Given the description of an element on the screen output the (x, y) to click on. 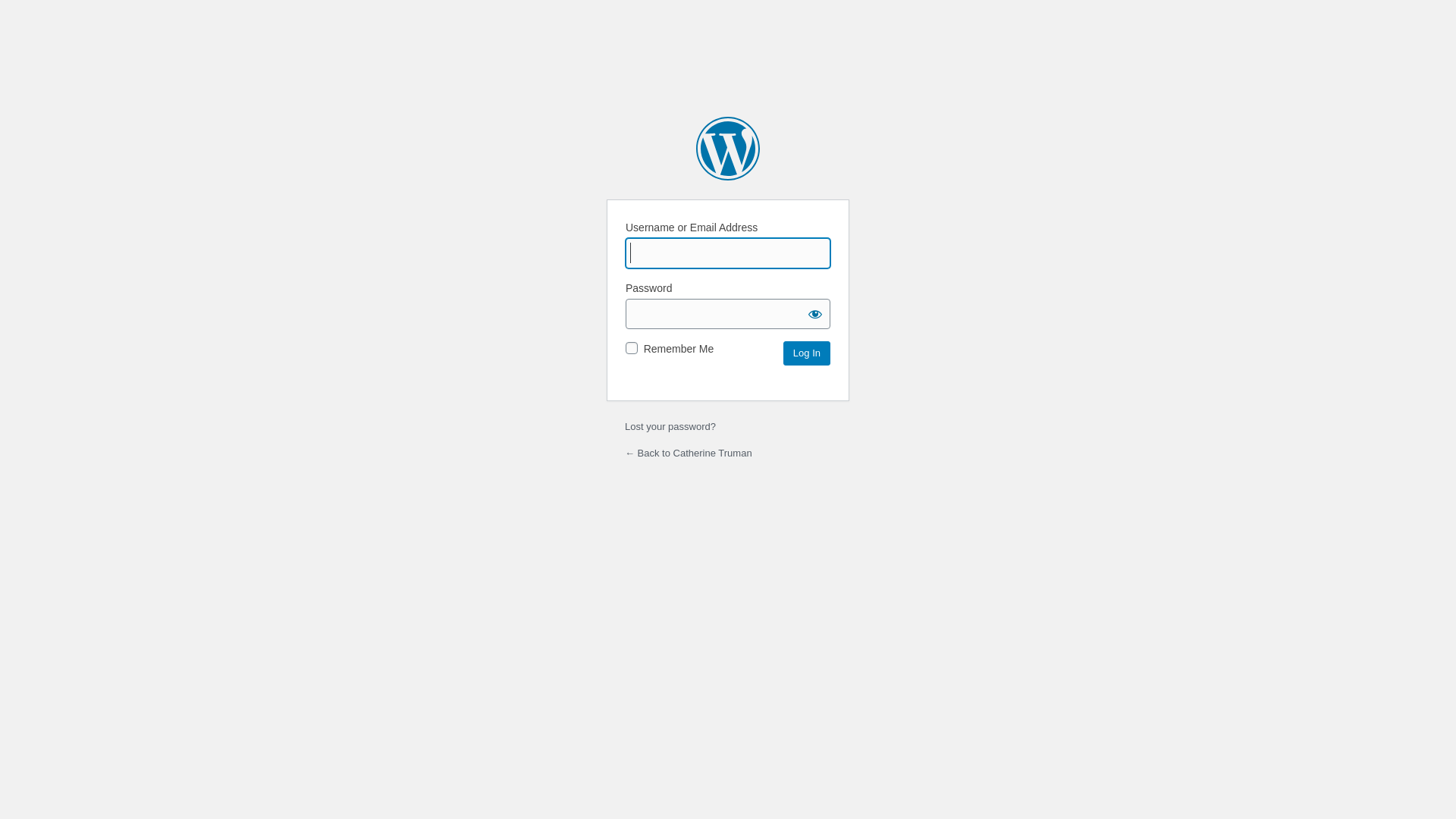
Log In Element type: text (806, 353)
Lost your password? Element type: text (669, 426)
Powered by WordPress Element type: text (727, 148)
